Given the description of an element on the screen output the (x, y) to click on. 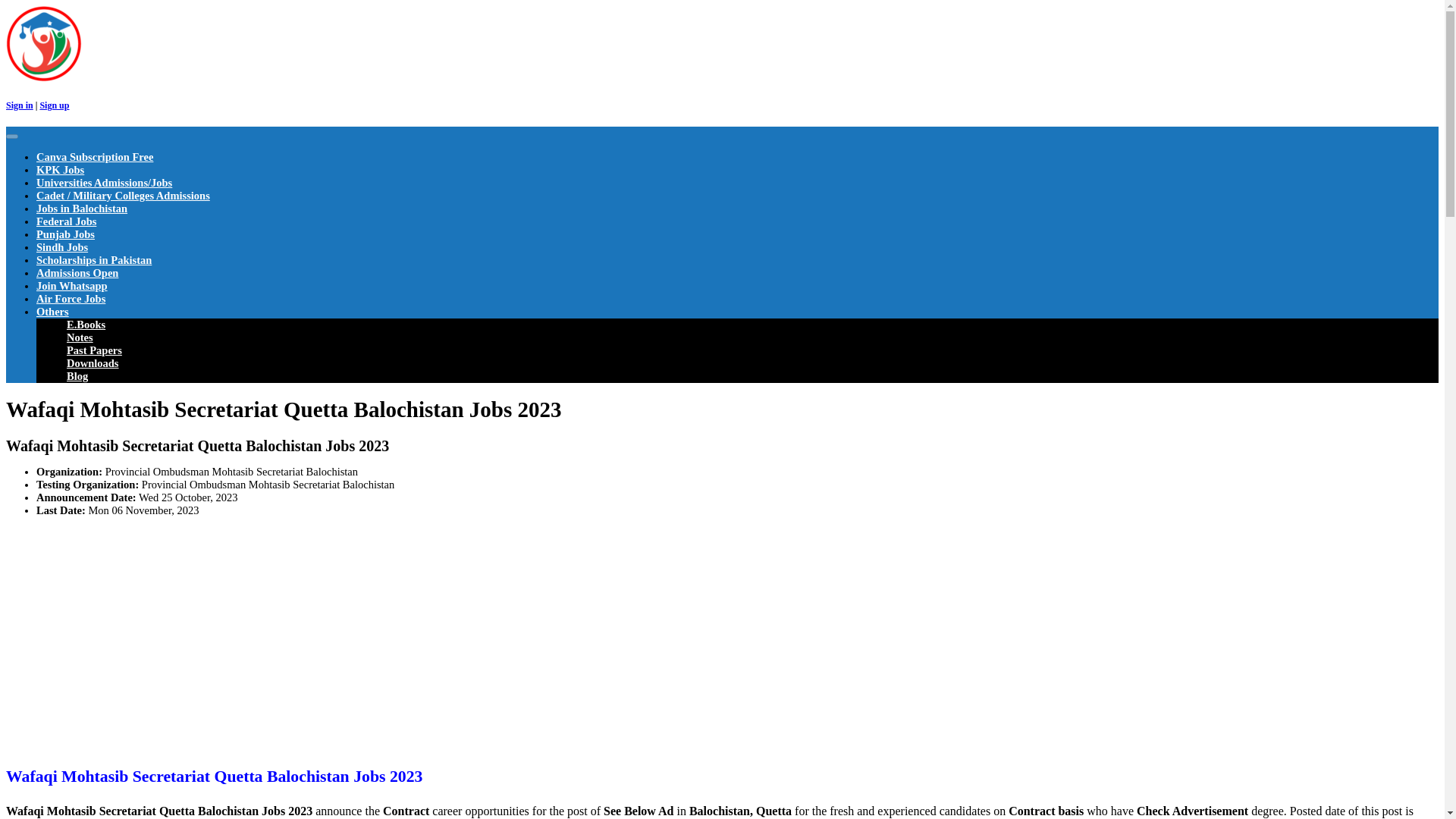
KPK Jobs (60, 169)
E.Books (85, 324)
Sindh Jobs (61, 246)
Sign up (53, 104)
Jobs in Balochistan (82, 208)
Downloads (92, 363)
Past Papers (94, 349)
Scholarships in Pakistan (93, 259)
Admissions Open (76, 272)
Canva Subscription Free (94, 156)
